Given the description of an element on the screen output the (x, y) to click on. 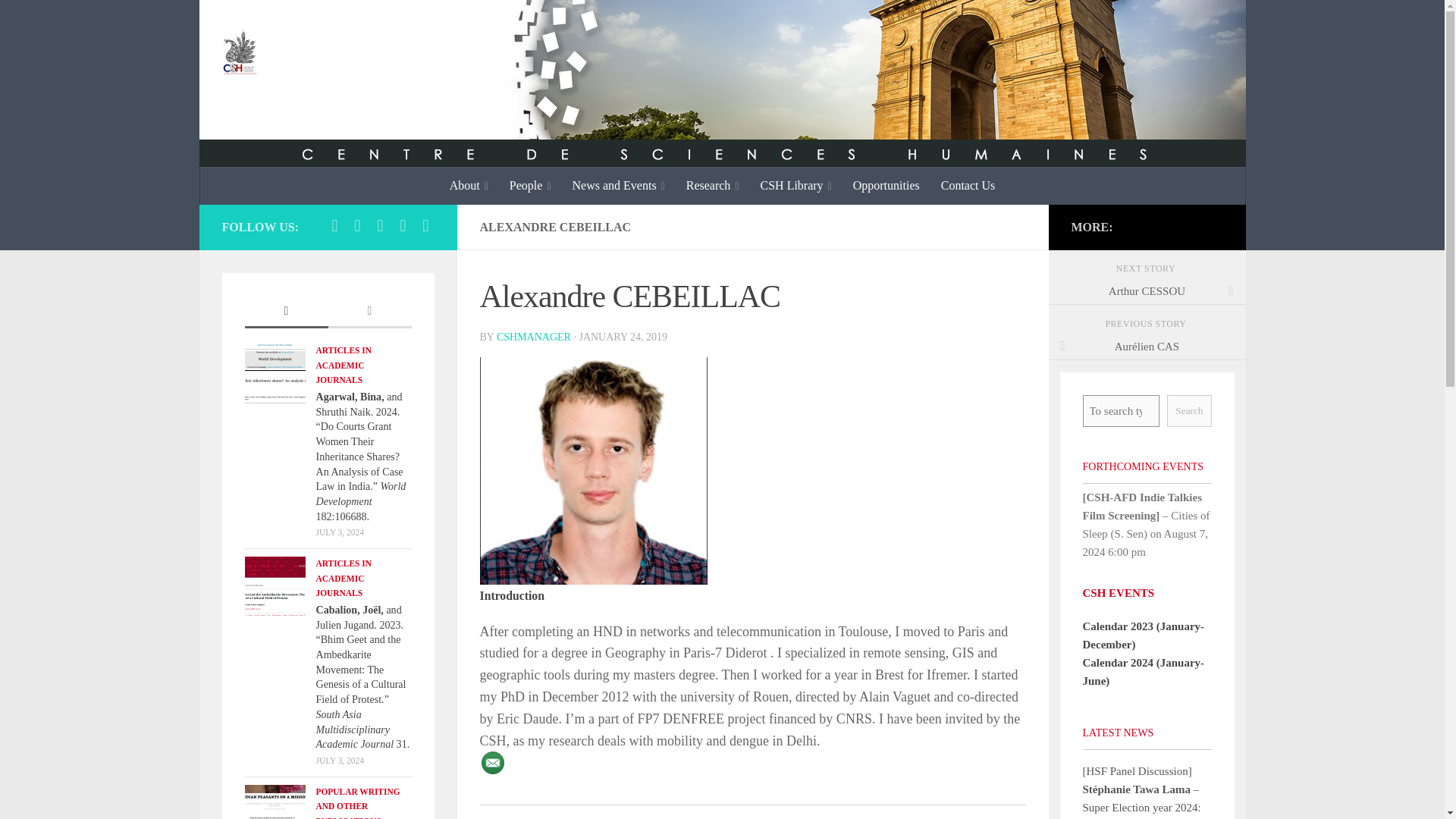
Follow us on Instagram (379, 225)
Follow us on Linkedin (424, 225)
Tags (368, 311)
Posts by cshmanager (533, 337)
Follow us on Twitter (357, 225)
Follow us on Facebook (334, 225)
Recent Posts (285, 311)
Follow us on Youtube (402, 225)
Skip to content (59, 20)
